Given the description of an element on the screen output the (x, y) to click on. 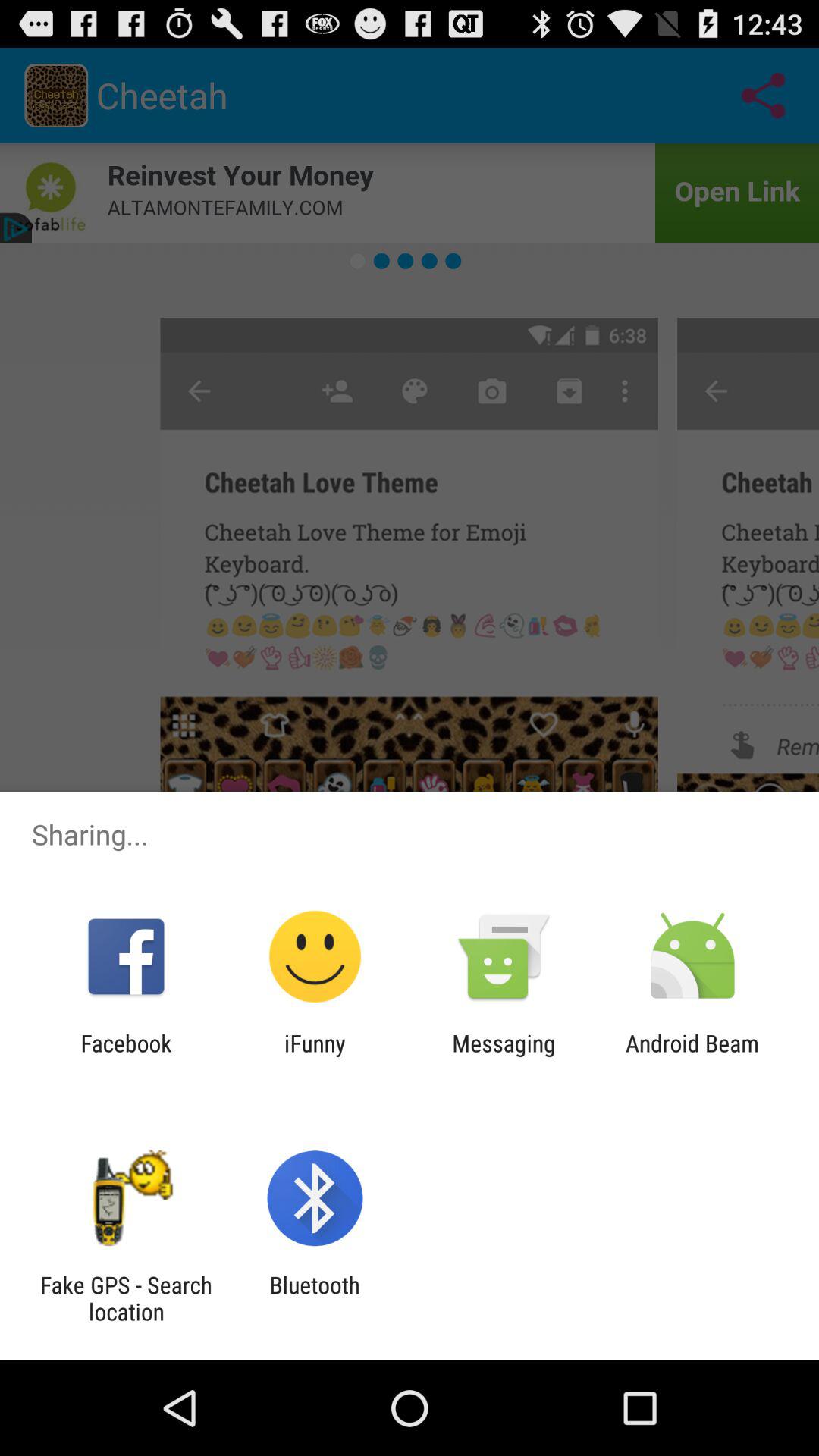
select item to the left of messaging icon (314, 1056)
